Given the description of an element on the screen output the (x, y) to click on. 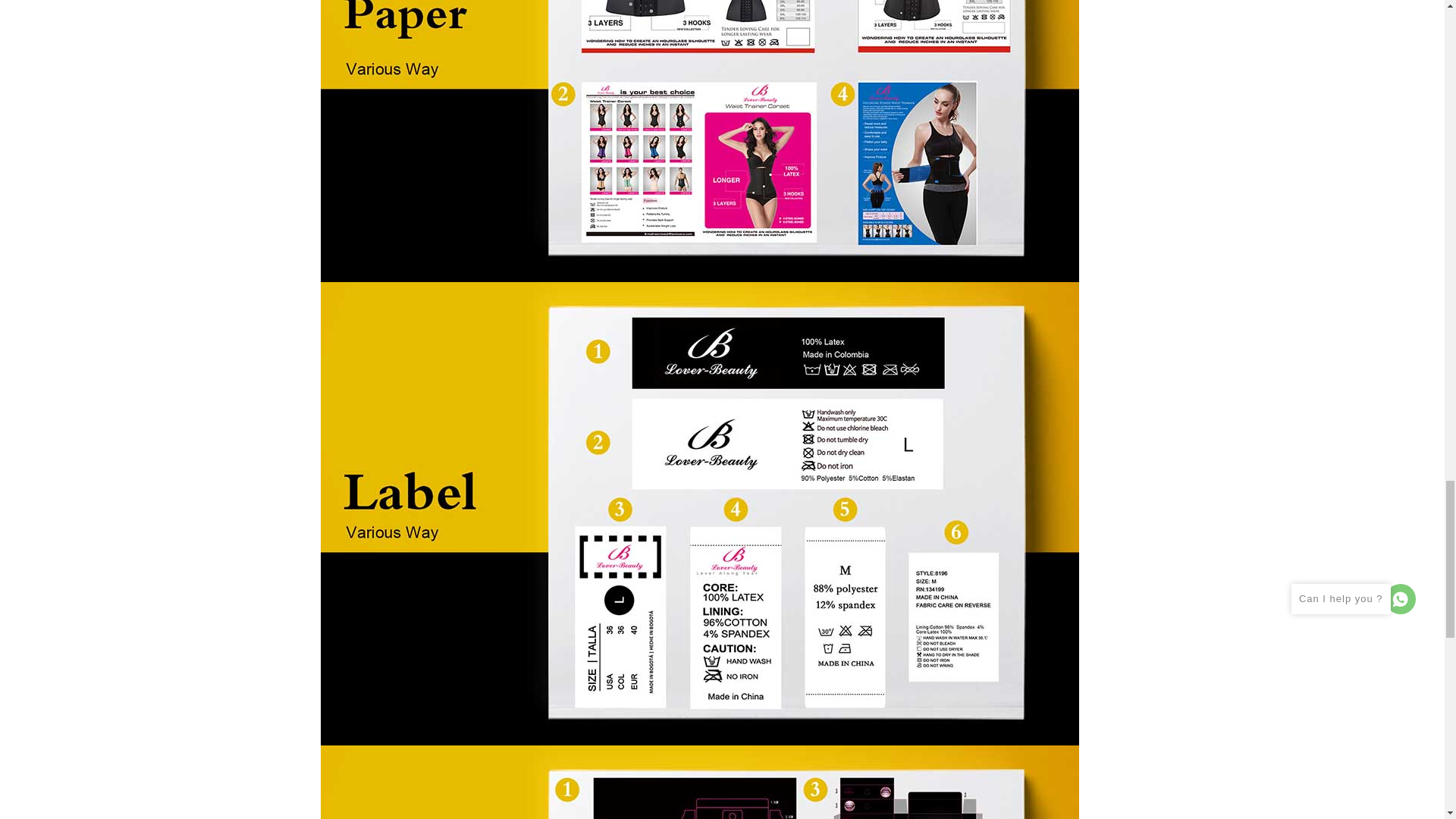
1578476510785401.jpg (699, 782)
